Given the description of an element on the screen output the (x, y) to click on. 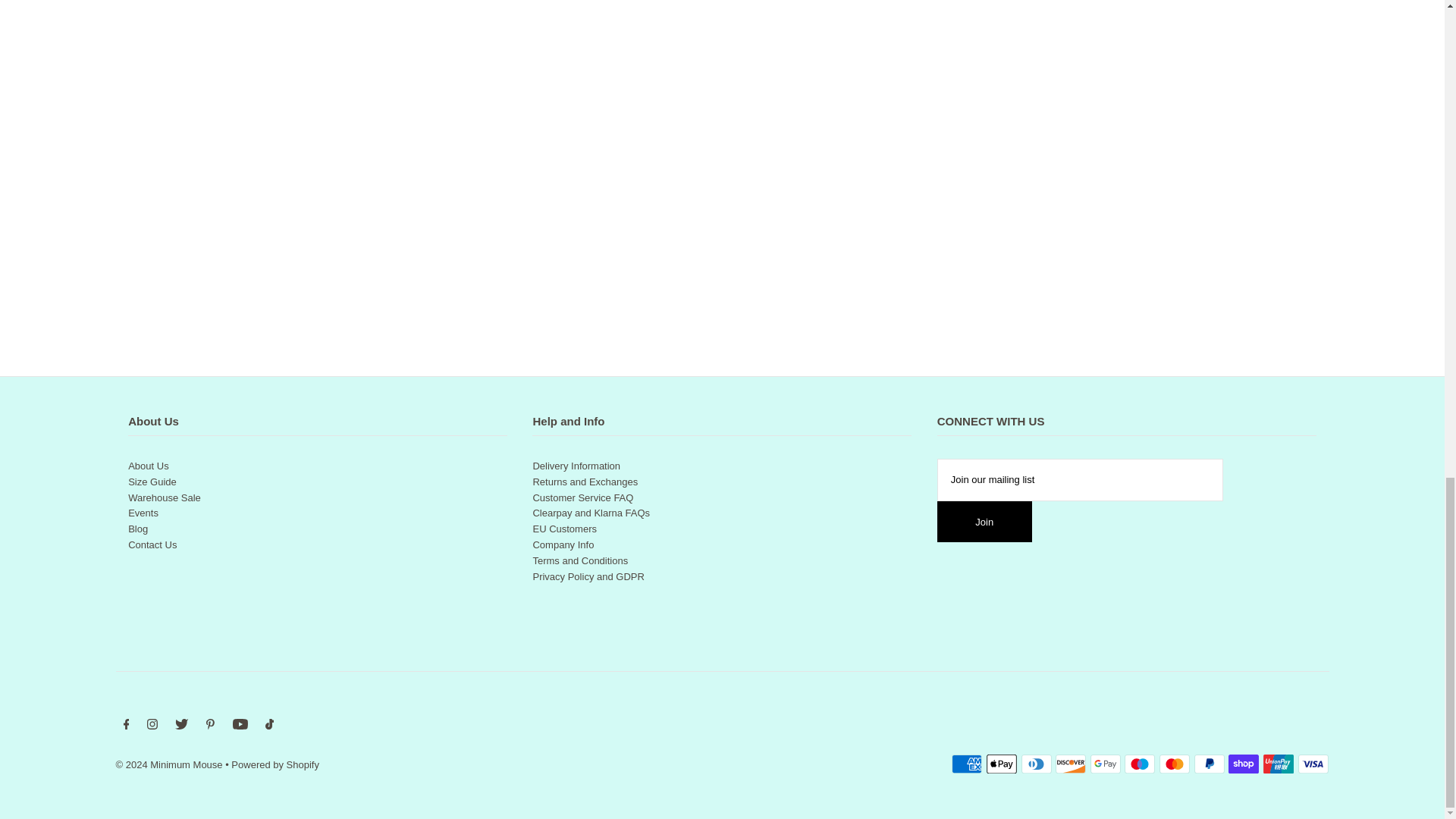
American Express (966, 763)
Apple Pay (1001, 763)
Join (984, 521)
Diners Club (1035, 763)
